Given the description of an element on the screen output the (x, y) to click on. 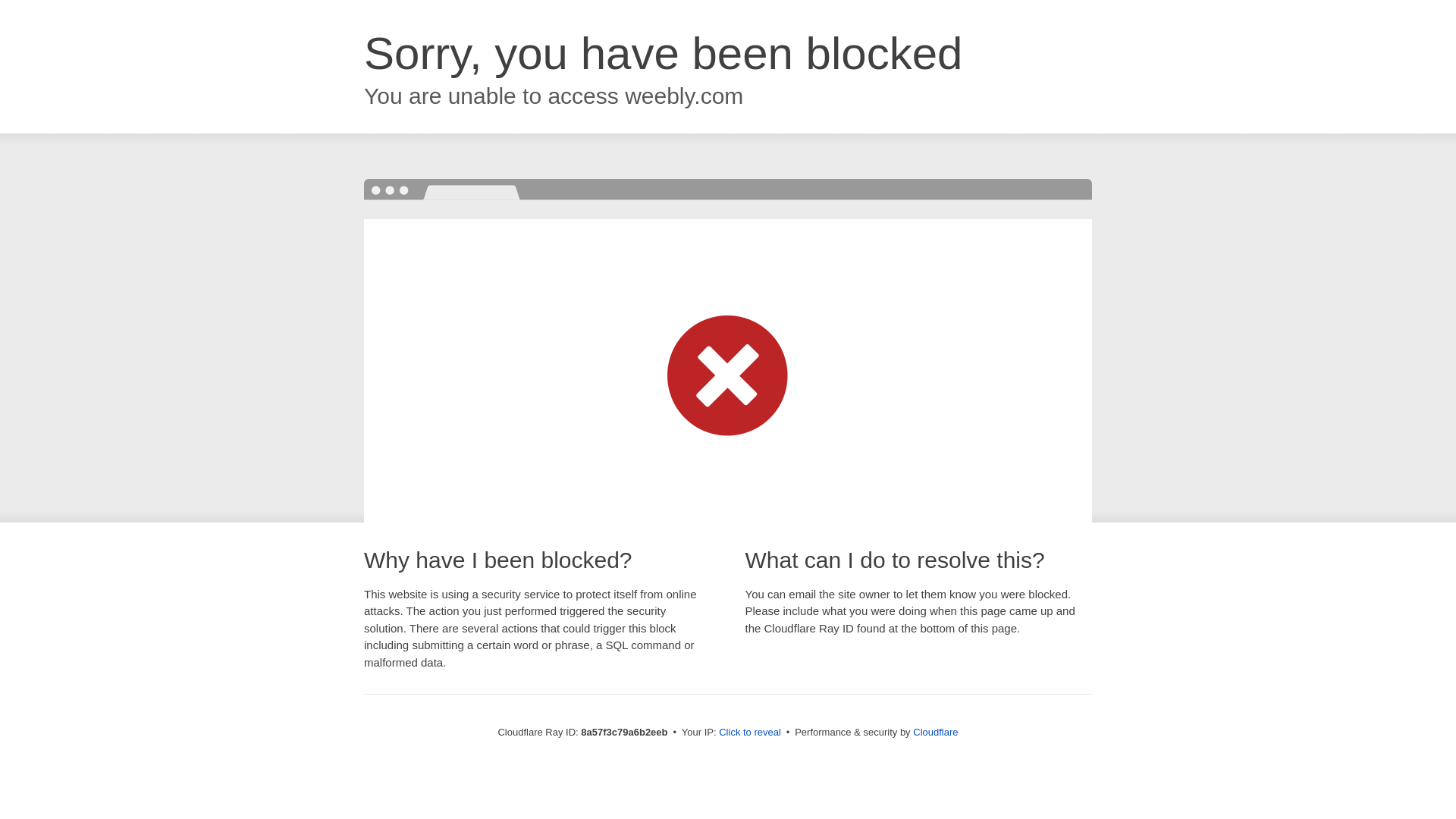
Cloudflare (935, 731)
Click to reveal (749, 732)
